Given the description of an element on the screen output the (x, y) to click on. 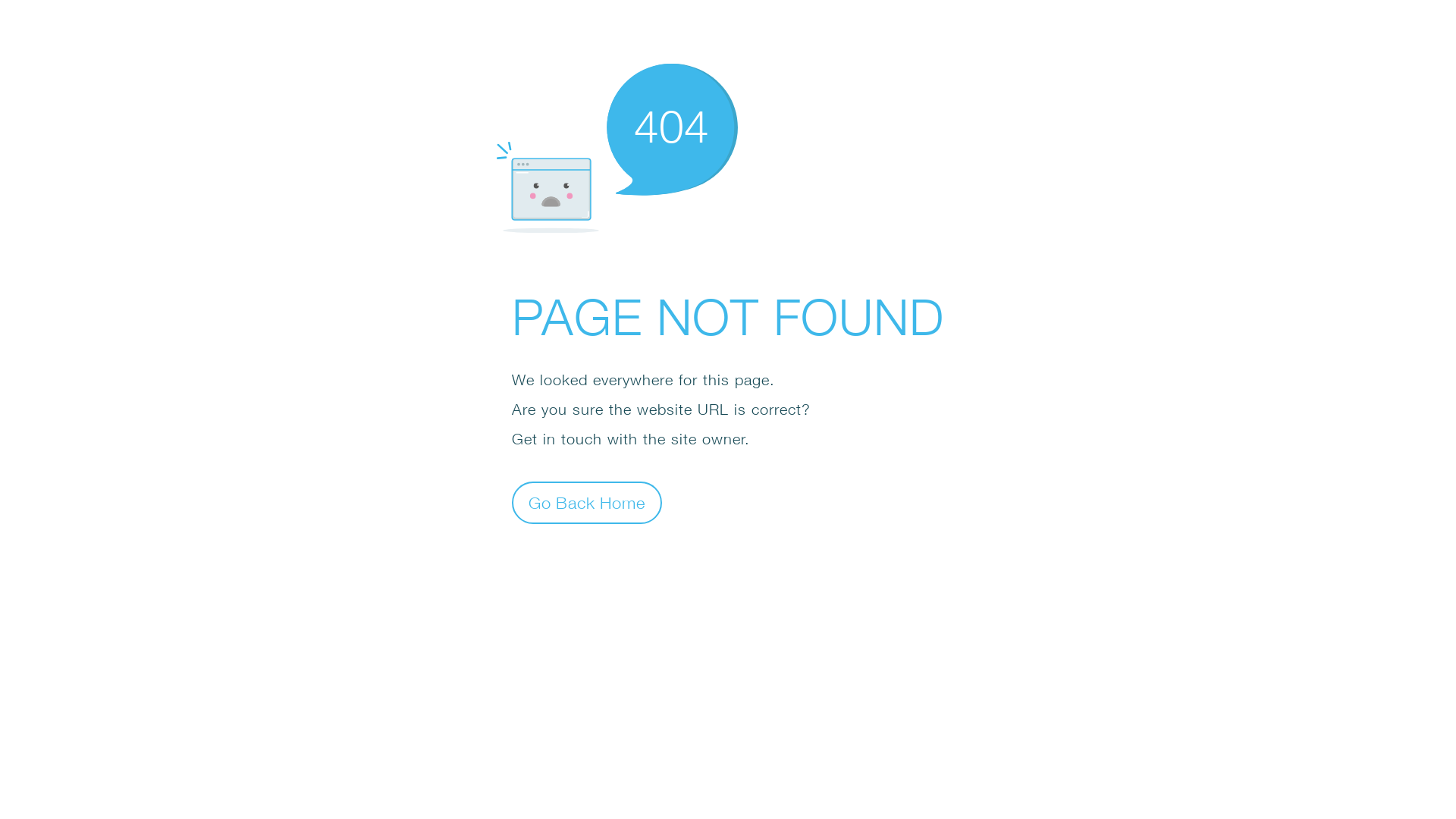
Go Back Home Element type: text (586, 502)
